Given the description of an element on the screen output the (x, y) to click on. 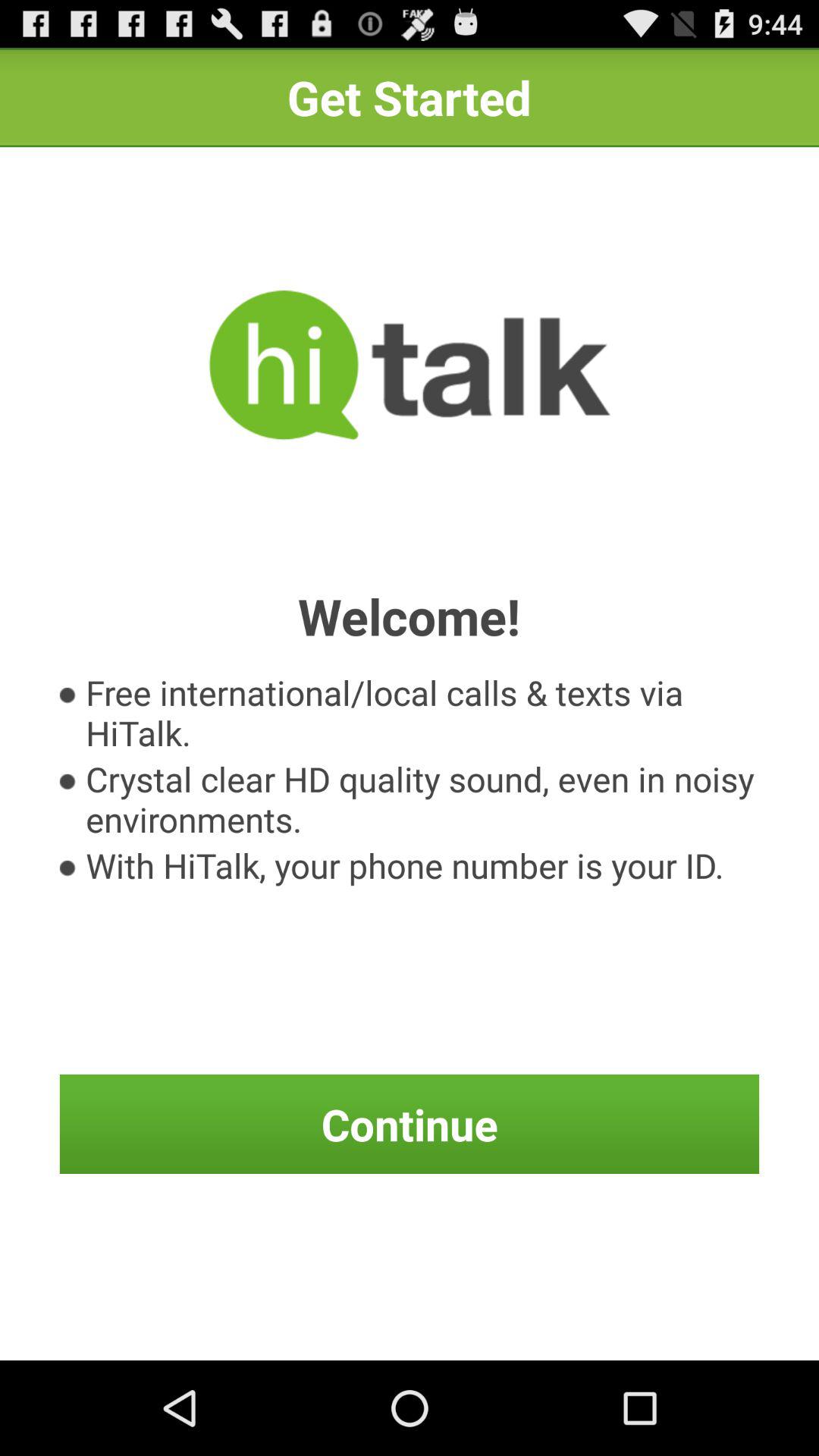
launch icon below the with hitalk your app (409, 1123)
